Given the description of an element on the screen output the (x, y) to click on. 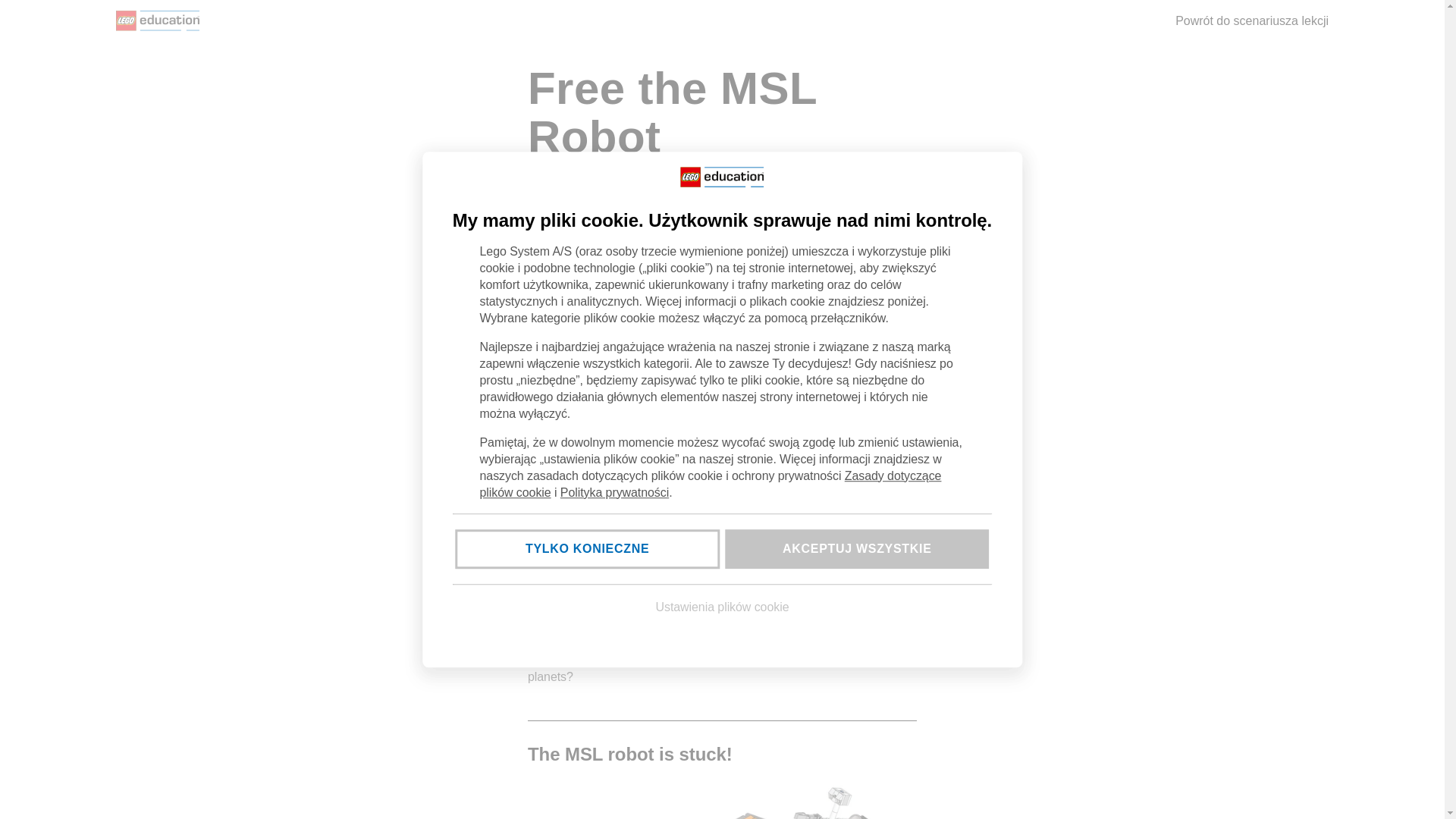
AKCEPTUJ WSZYSTKIE (857, 548)
TYLKO KONIECZNE (586, 548)
